Given the description of an element on the screen output the (x, y) to click on. 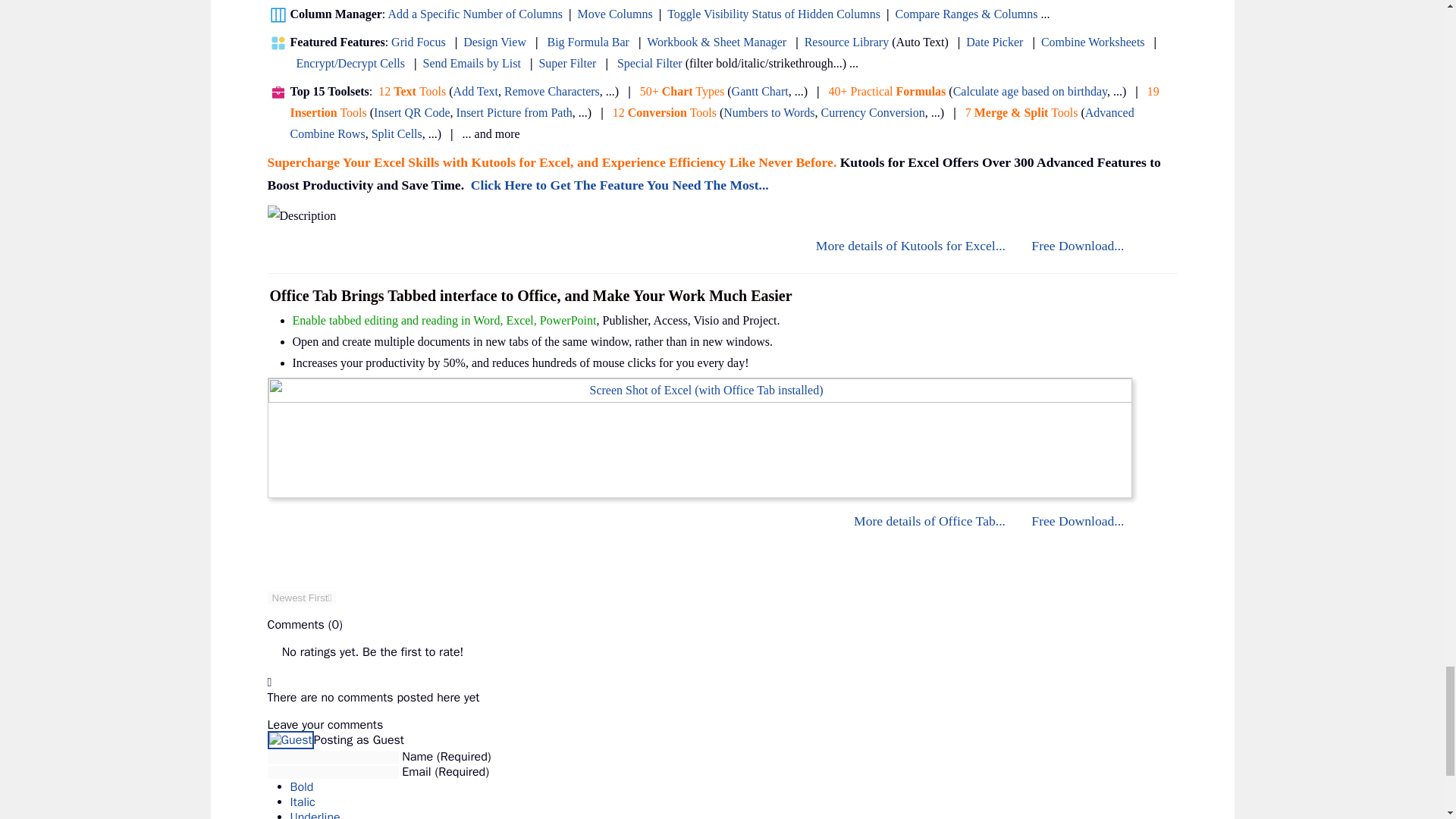
Not rated yet! (273, 652)
